Given the description of an element on the screen output the (x, y) to click on. 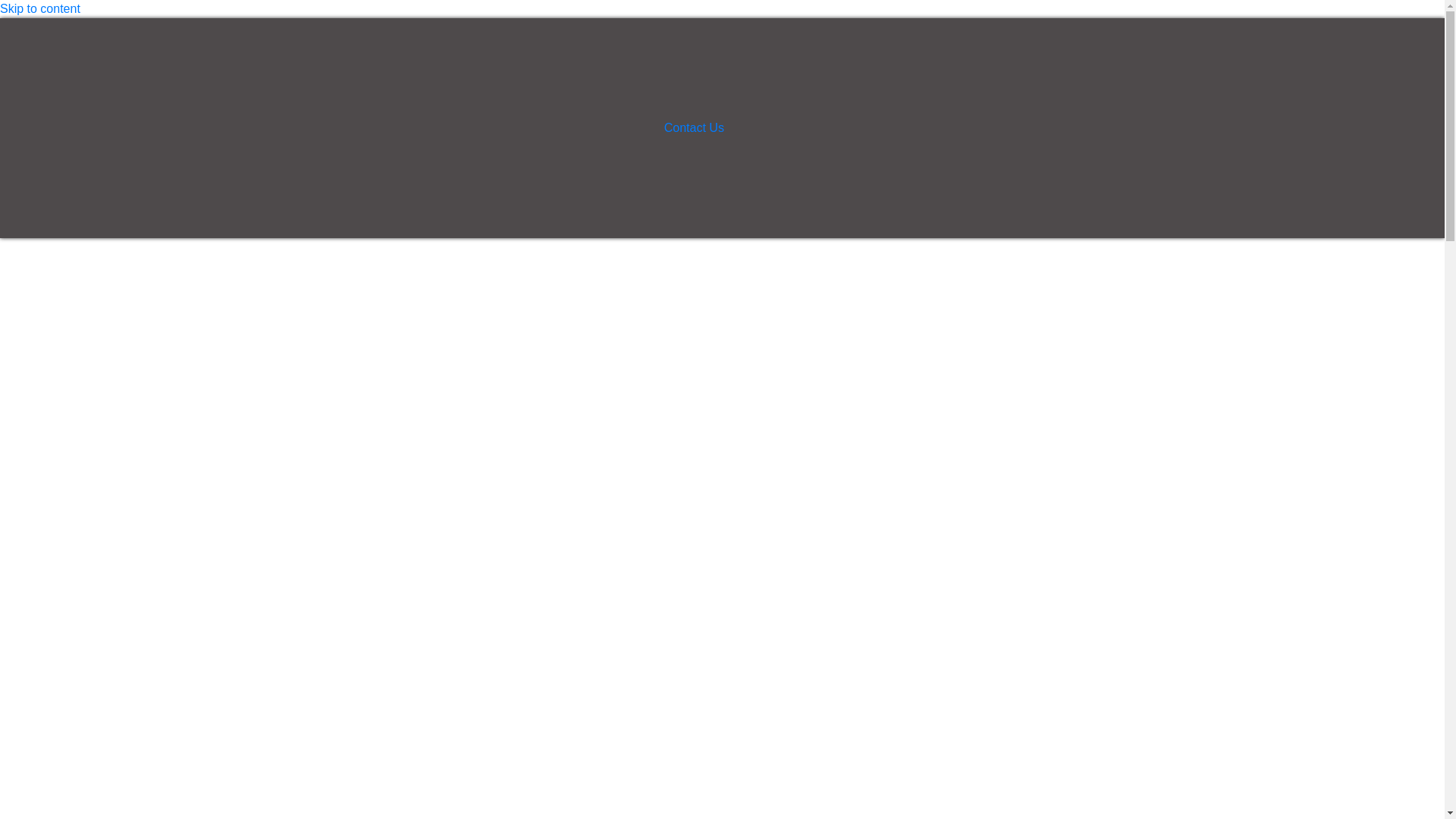
Amazon (1050, 124)
Contact Us (694, 128)
Skip to content (40, 8)
THE GATE LOGO 2021 NAME BLUE (149, 127)
Facebook (992, 124)
YouTube (1021, 124)
Udemy (1078, 124)
